Given the description of an element on the screen output the (x, y) to click on. 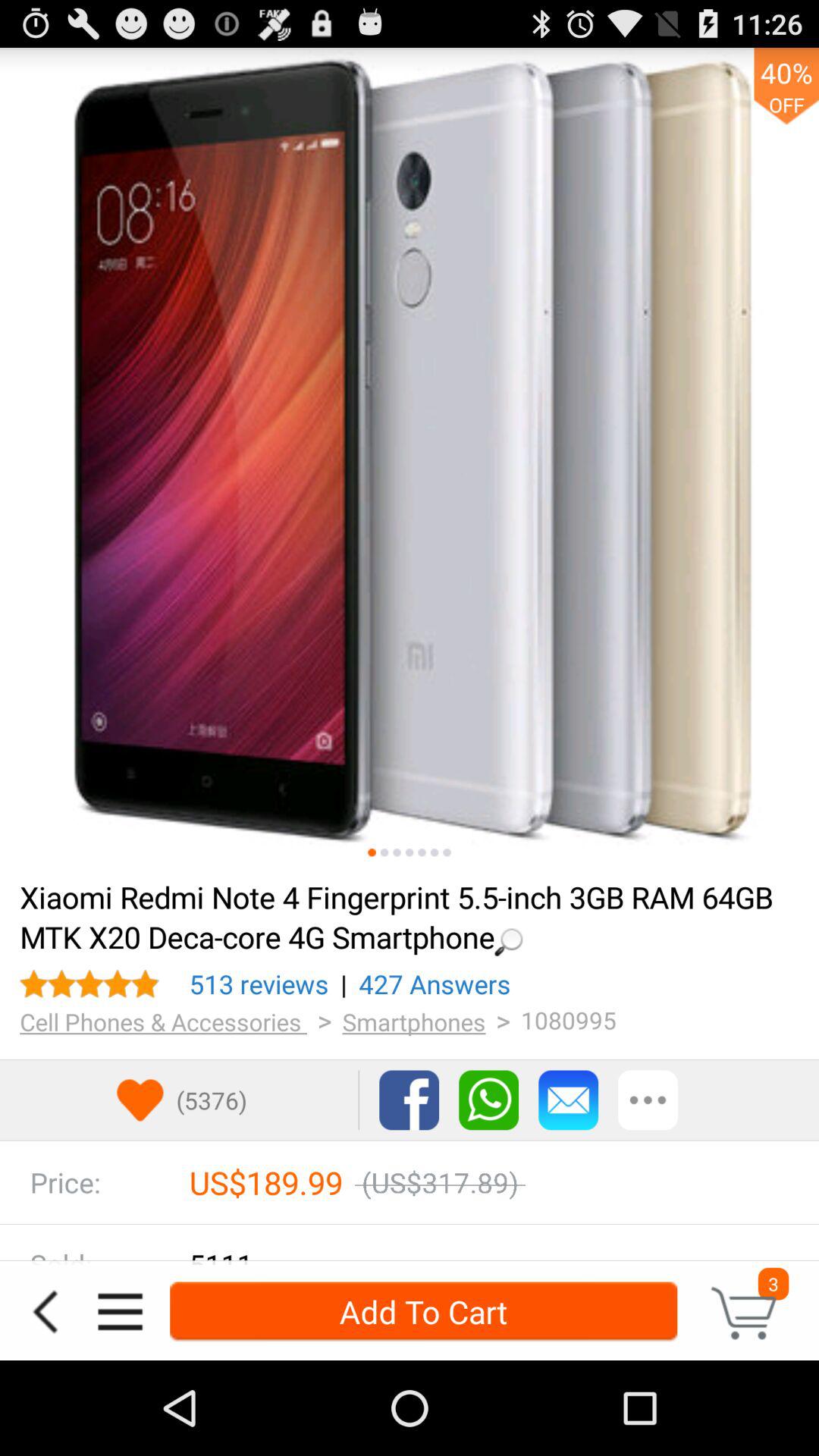
open email (568, 1100)
